Given the description of an element on the screen output the (x, y) to click on. 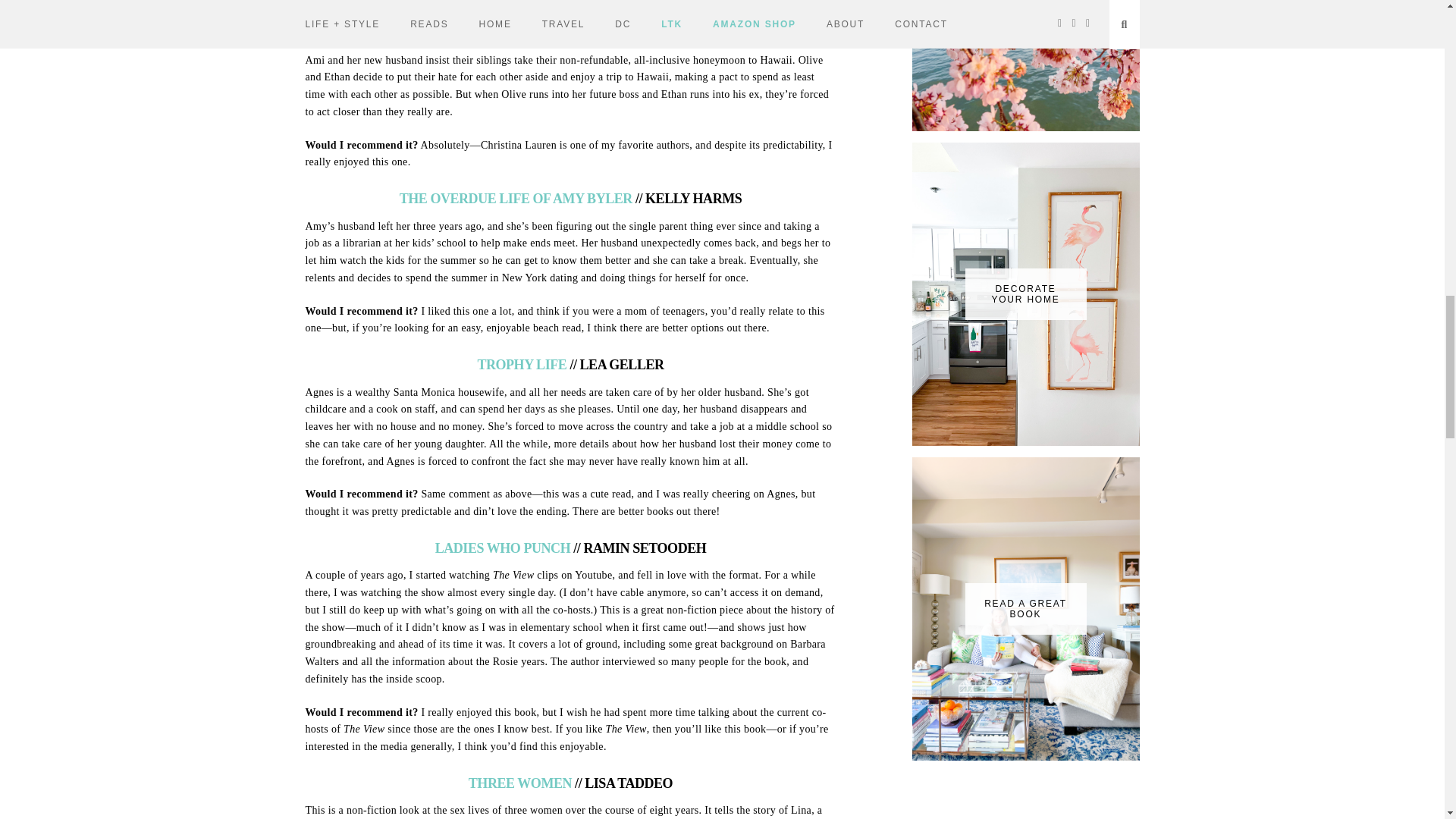
THE OVERDUE LIFE OF AMY BYLER (514, 198)
TROPHY LIFE (521, 364)
LADIES WHO PUNCH (502, 548)
